Given the description of an element on the screen output the (x, y) to click on. 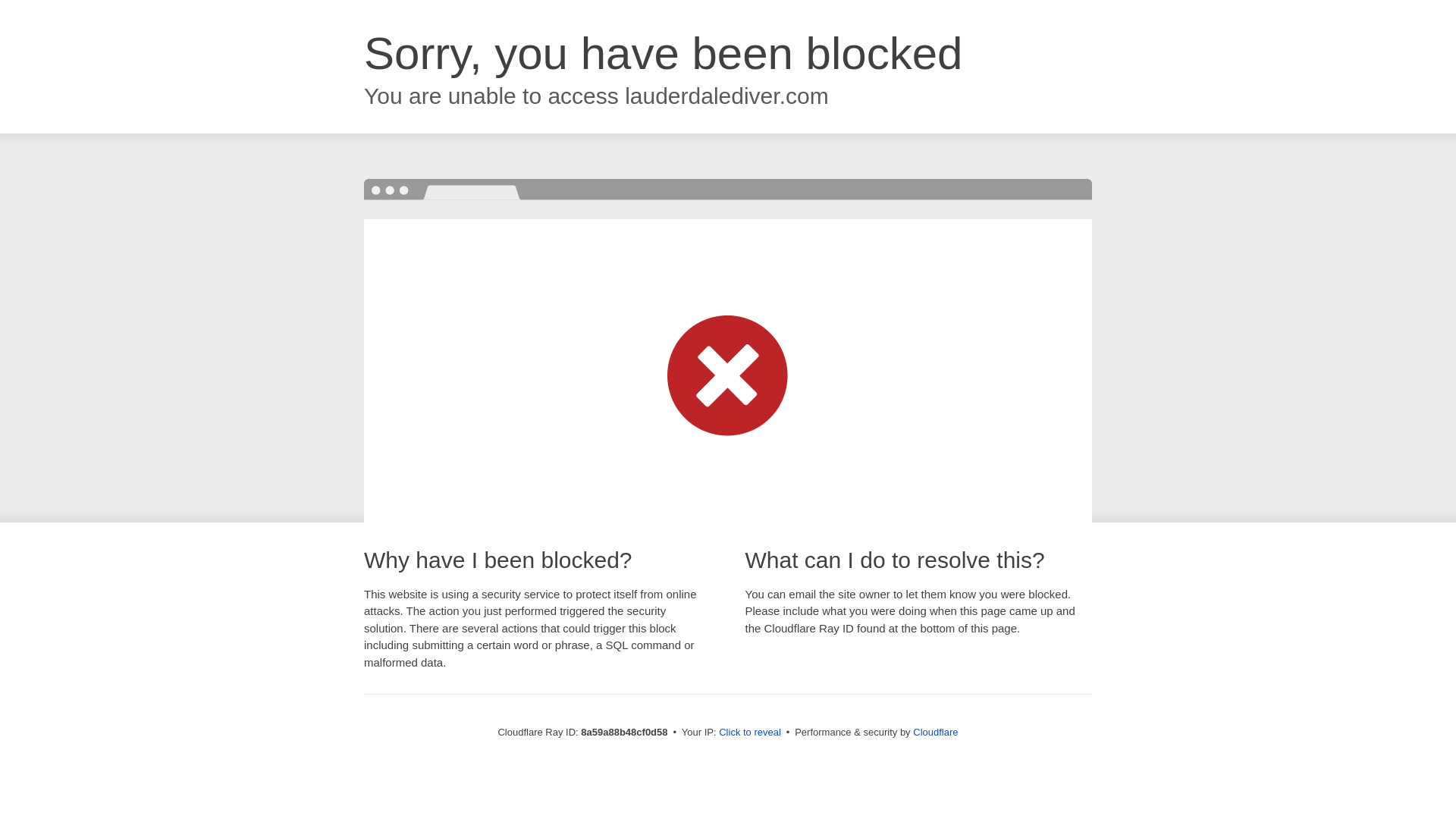
Click to reveal (749, 732)
Cloudflare (935, 731)
